Given the description of an element on the screen output the (x, y) to click on. 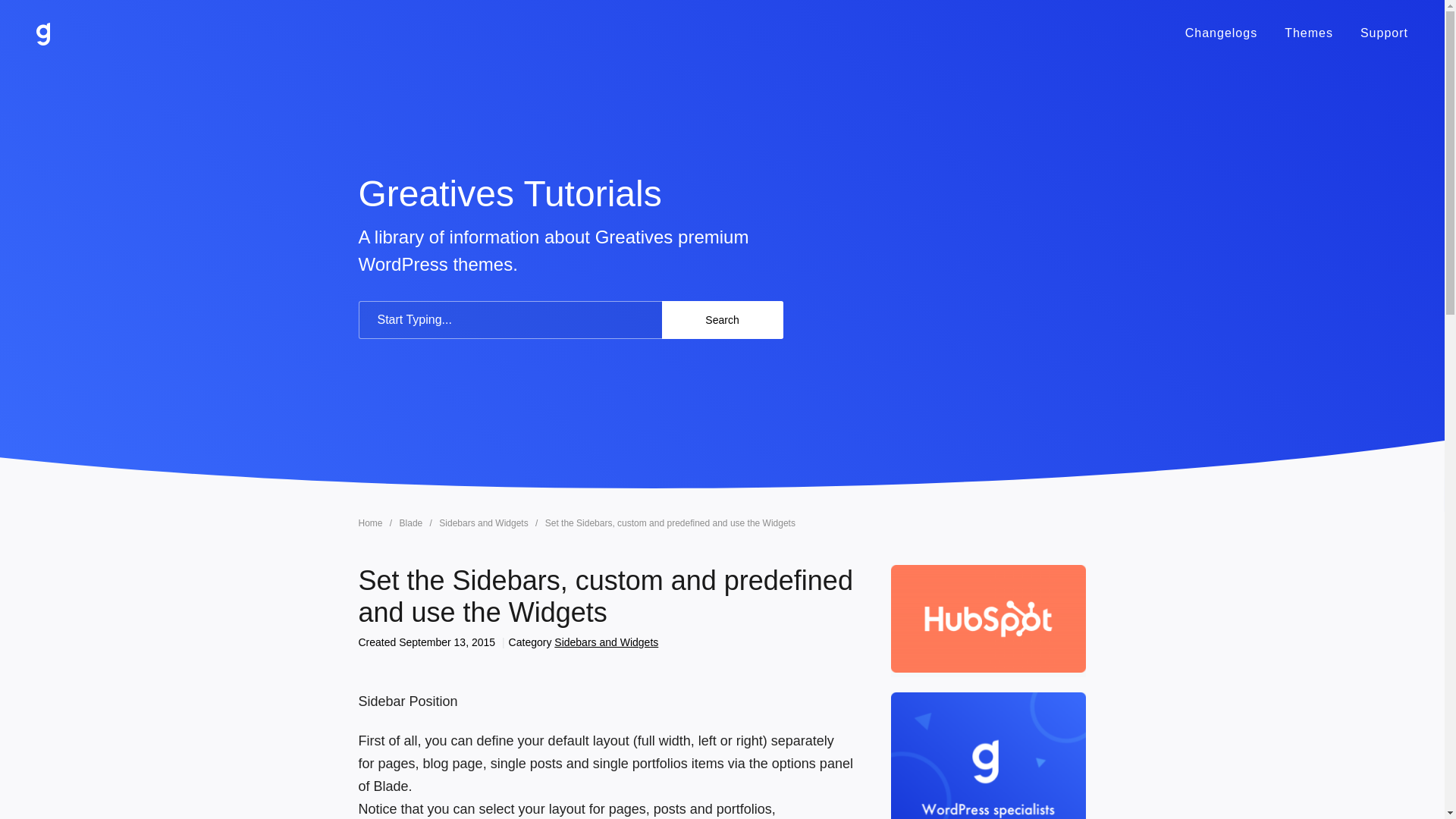
Blade (411, 522)
Support (1383, 32)
Home (371, 522)
Sidebars and Widgets (485, 522)
Sidebars and Widgets (606, 642)
Set the Sidebars, custom and predefined and use the Widgets (669, 522)
Themes (1308, 32)
Changelogs (1221, 32)
Search (722, 320)
